Given the description of an element on the screen output the (x, y) to click on. 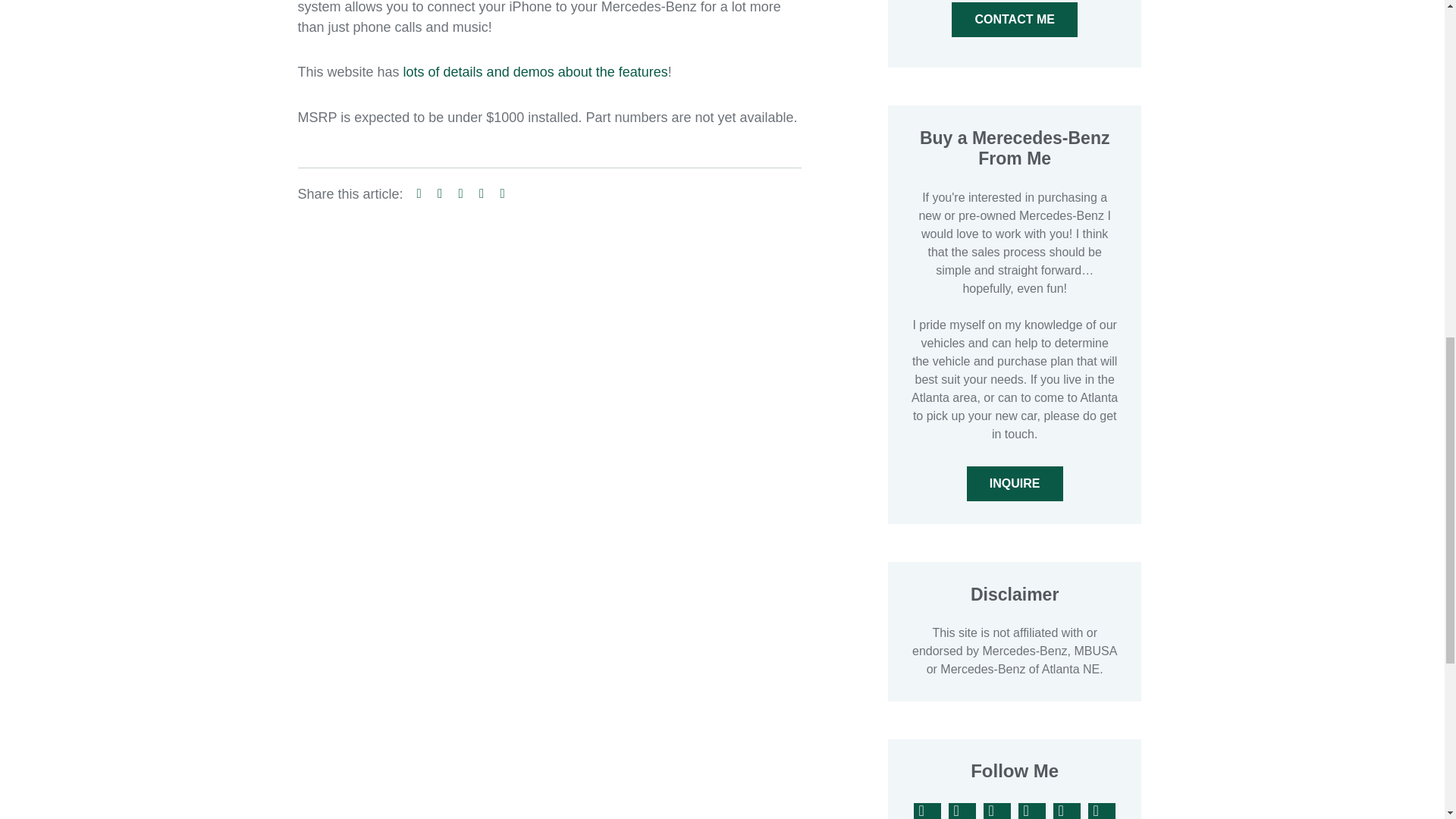
CONTACT ME (1014, 19)
lots of details and demos about the features (535, 71)
INQUIRE (1014, 483)
